Given the description of an element on the screen output the (x, y) to click on. 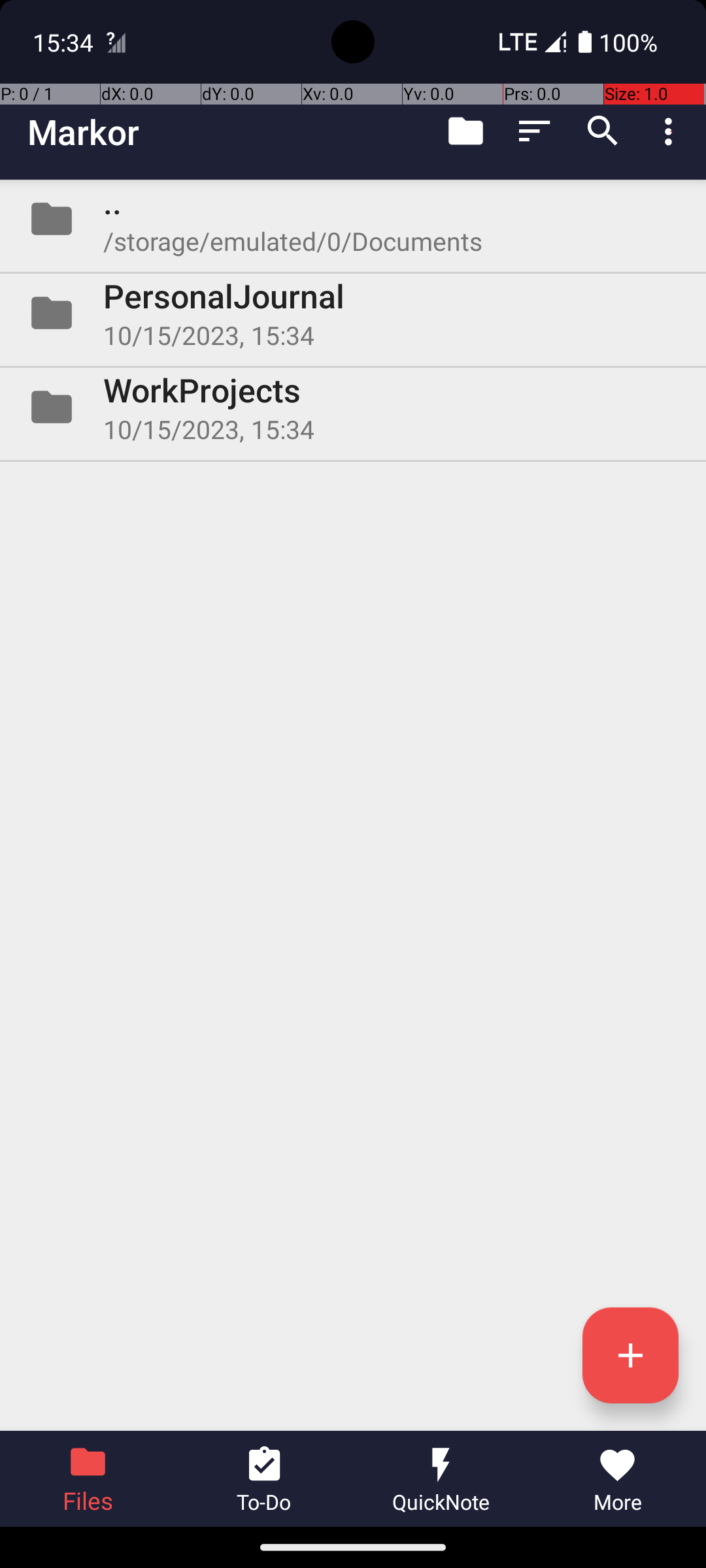
Folder PersonalJournal  Element type: android.widget.LinearLayout (353, 312)
Folder WorkProjects  Element type: android.widget.LinearLayout (353, 406)
